Given the description of an element on the screen output the (x, y) to click on. 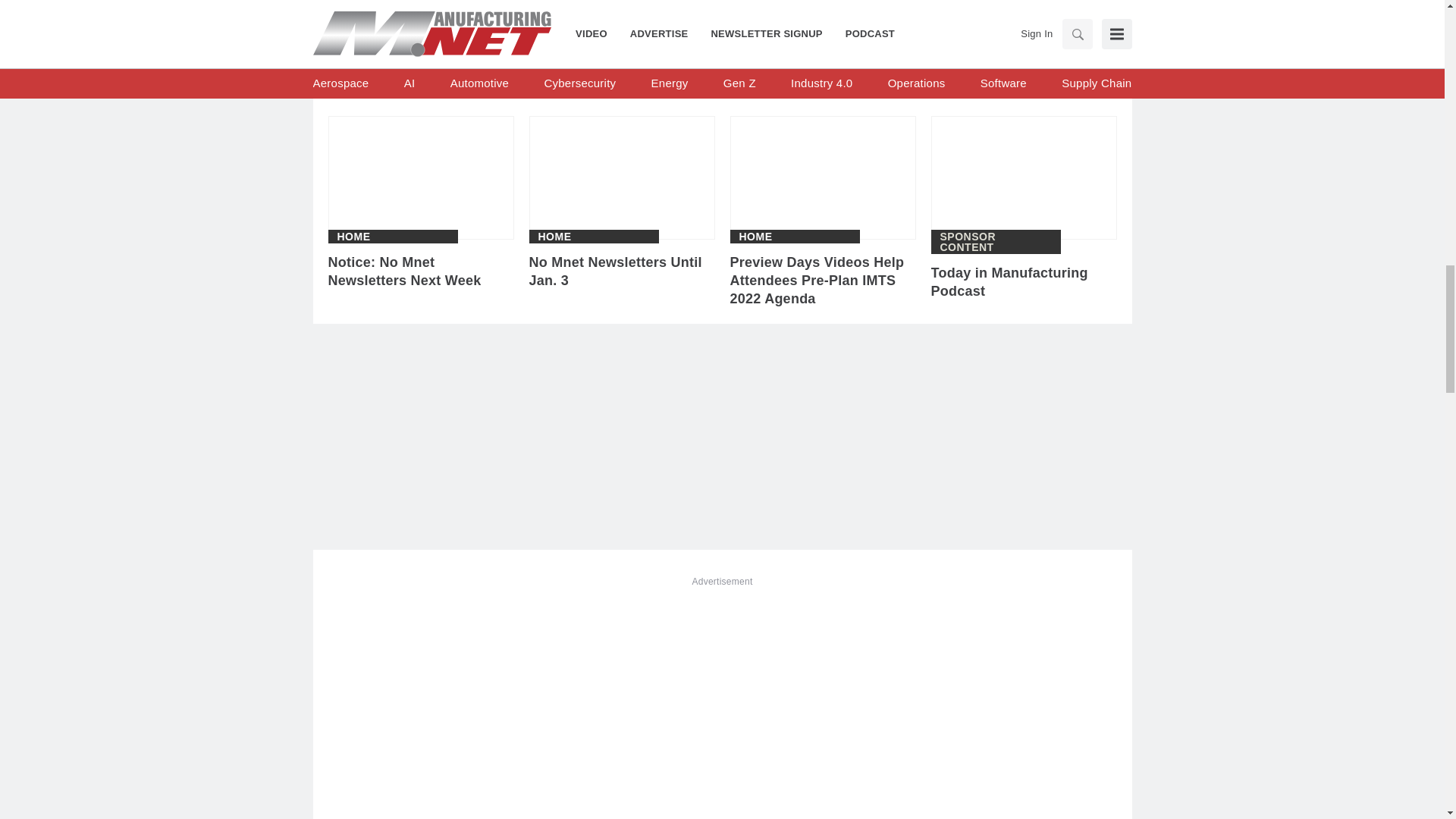
Share To linkedin (421, 11)
Home (555, 235)
Share To facebook (381, 11)
Share To twitter (460, 11)
Home (352, 235)
Share To pinterest (499, 11)
Share To print (342, 11)
